Given the description of an element on the screen output the (x, y) to click on. 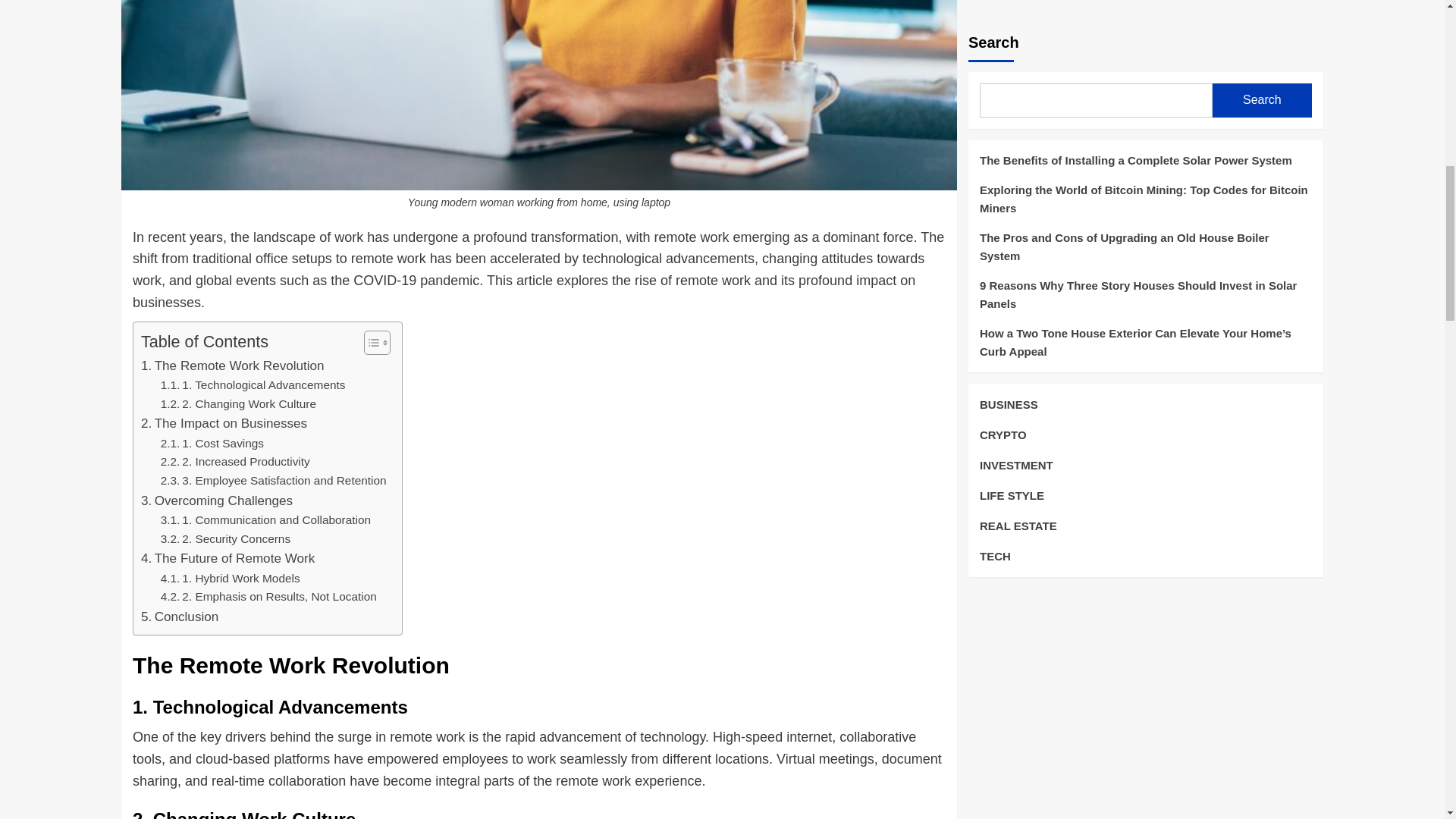
1. Communication and Collaboration (265, 520)
1. Technological Advancements (253, 384)
The Remote Work Revolution (232, 365)
2. Emphasis on Results, Not Location (268, 597)
2. Security Concerns (224, 538)
1. Communication and Collaboration (265, 520)
Overcoming Challenges (216, 500)
2. Security Concerns (224, 538)
1. Technological Advancements (253, 384)
Overcoming Challenges (216, 500)
2. Changing Work Culture (237, 404)
The Remote Work Revolution (232, 365)
1. Cost Savings (211, 443)
The Future of Remote Work (227, 557)
2. Changing Work Culture (237, 404)
